Given the description of an element on the screen output the (x, y) to click on. 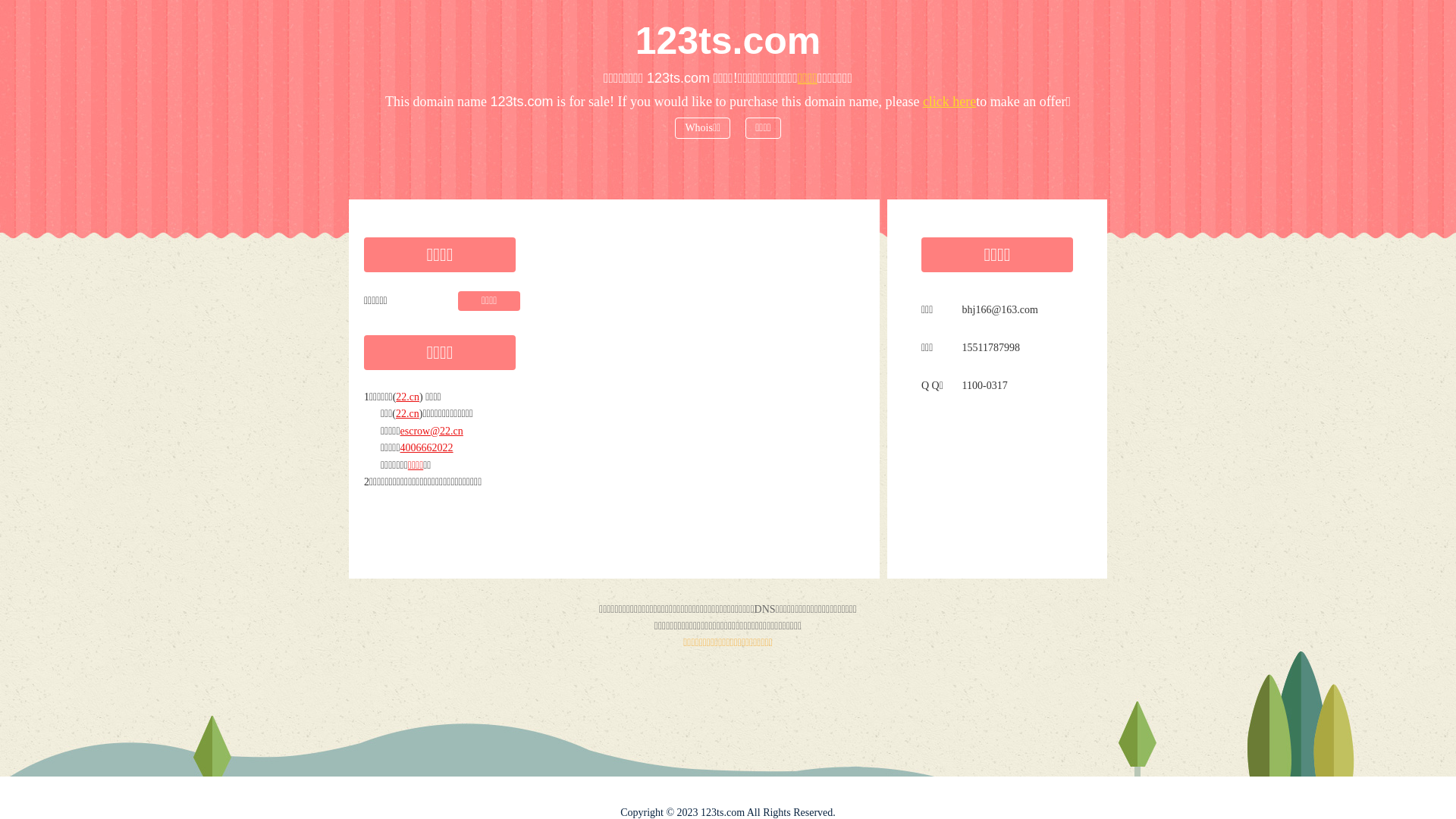
22.cn Element type: text (407, 413)
escrow@22.cn Element type: text (431, 430)
4006662022 Element type: text (426, 447)
22.cn Element type: text (407, 396)
click here Element type: text (948, 101)
